Given the description of an element on the screen output the (x, y) to click on. 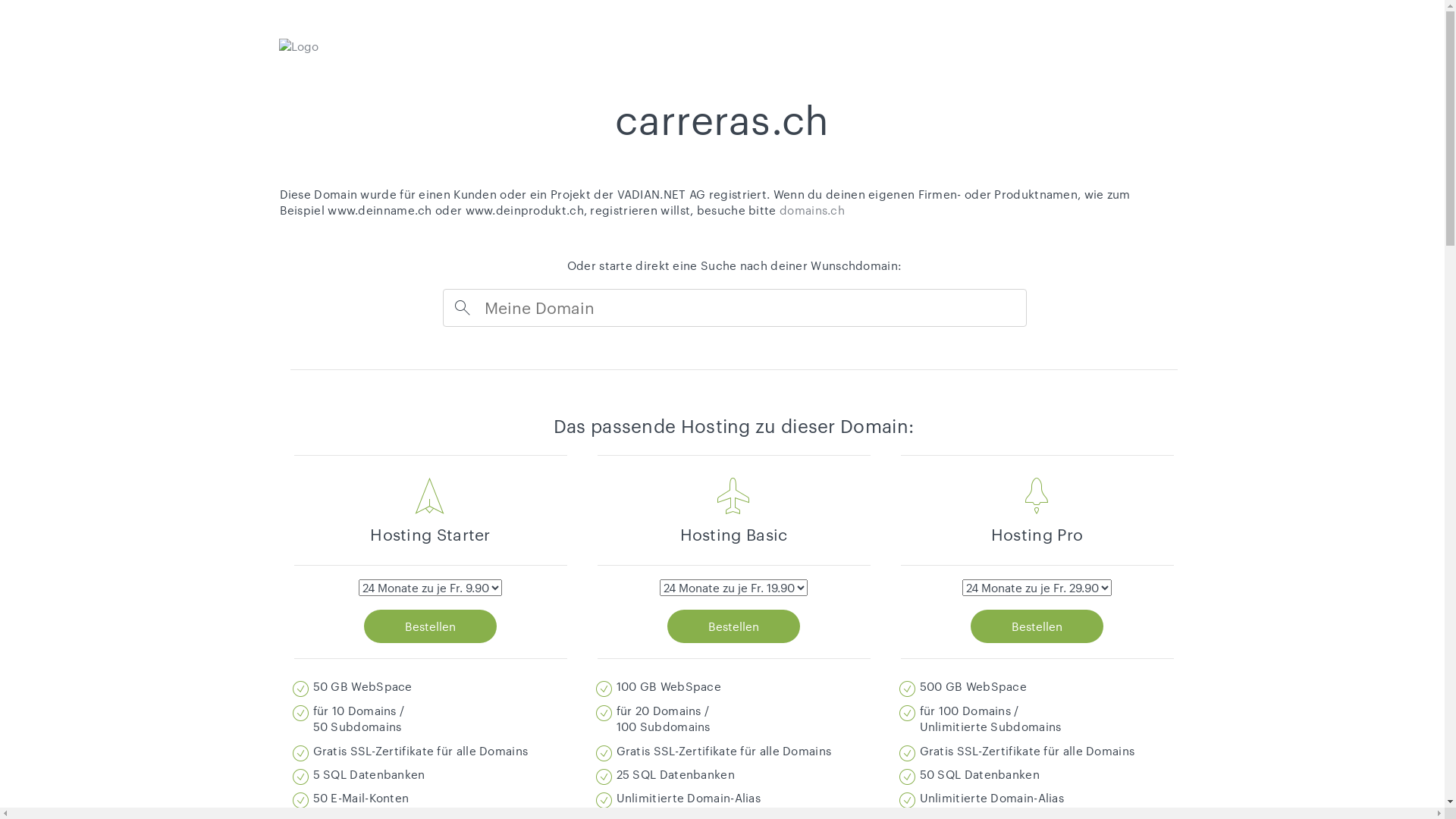
Bestellen Element type: text (1036, 626)
Bestellen Element type: text (430, 626)
domains.ch Element type: text (811, 209)
Bestellen Element type: text (733, 626)
